Given the description of an element on the screen output the (x, y) to click on. 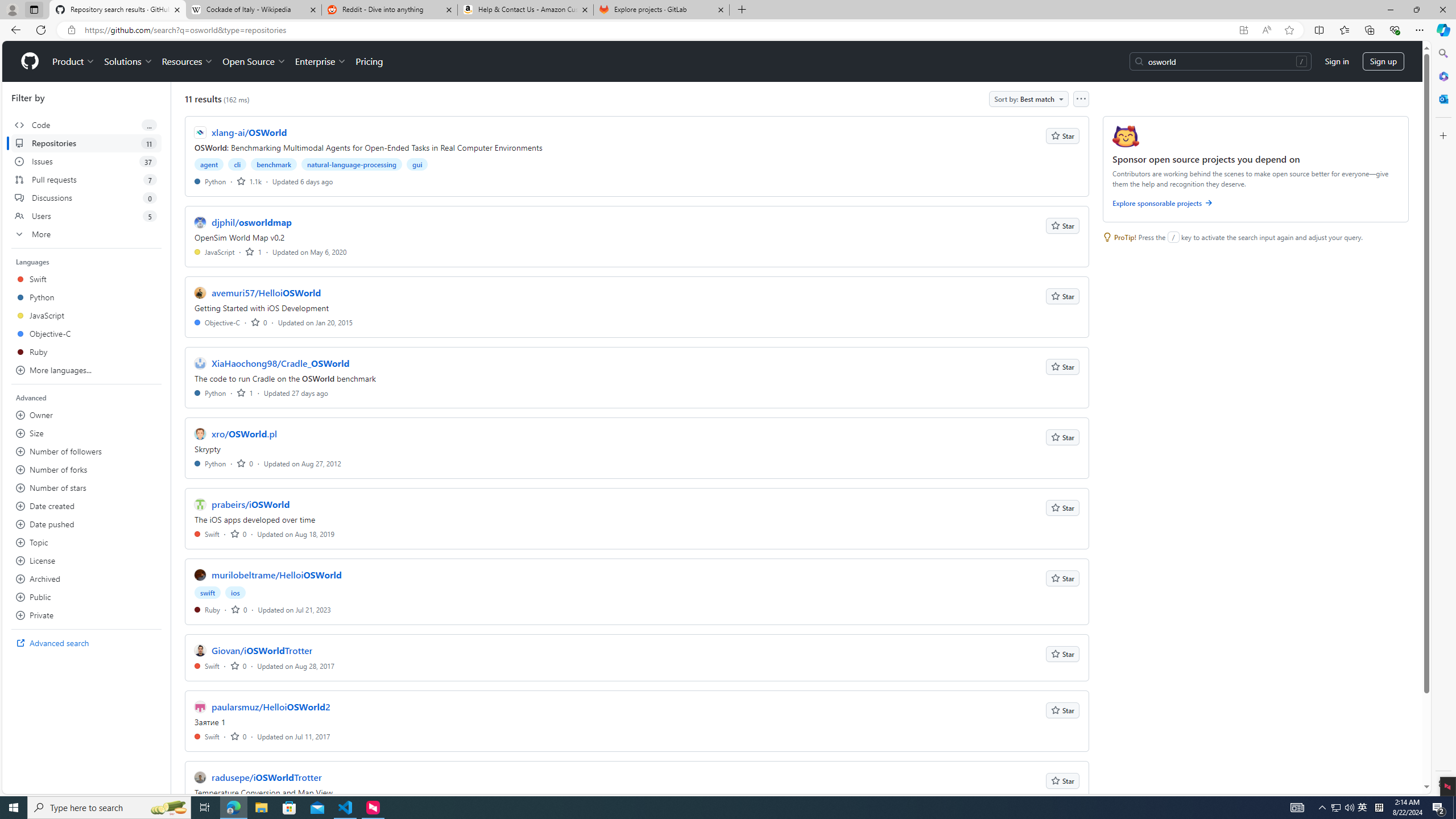
Sign up (1382, 61)
djphil/osworldmap (251, 222)
ios (235, 592)
Updated on May 6, 2020 (309, 251)
Cockade of Italy - Wikipedia (253, 9)
Draggable pane splitter (169, 437)
